Given the description of an element on the screen output the (x, y) to click on. 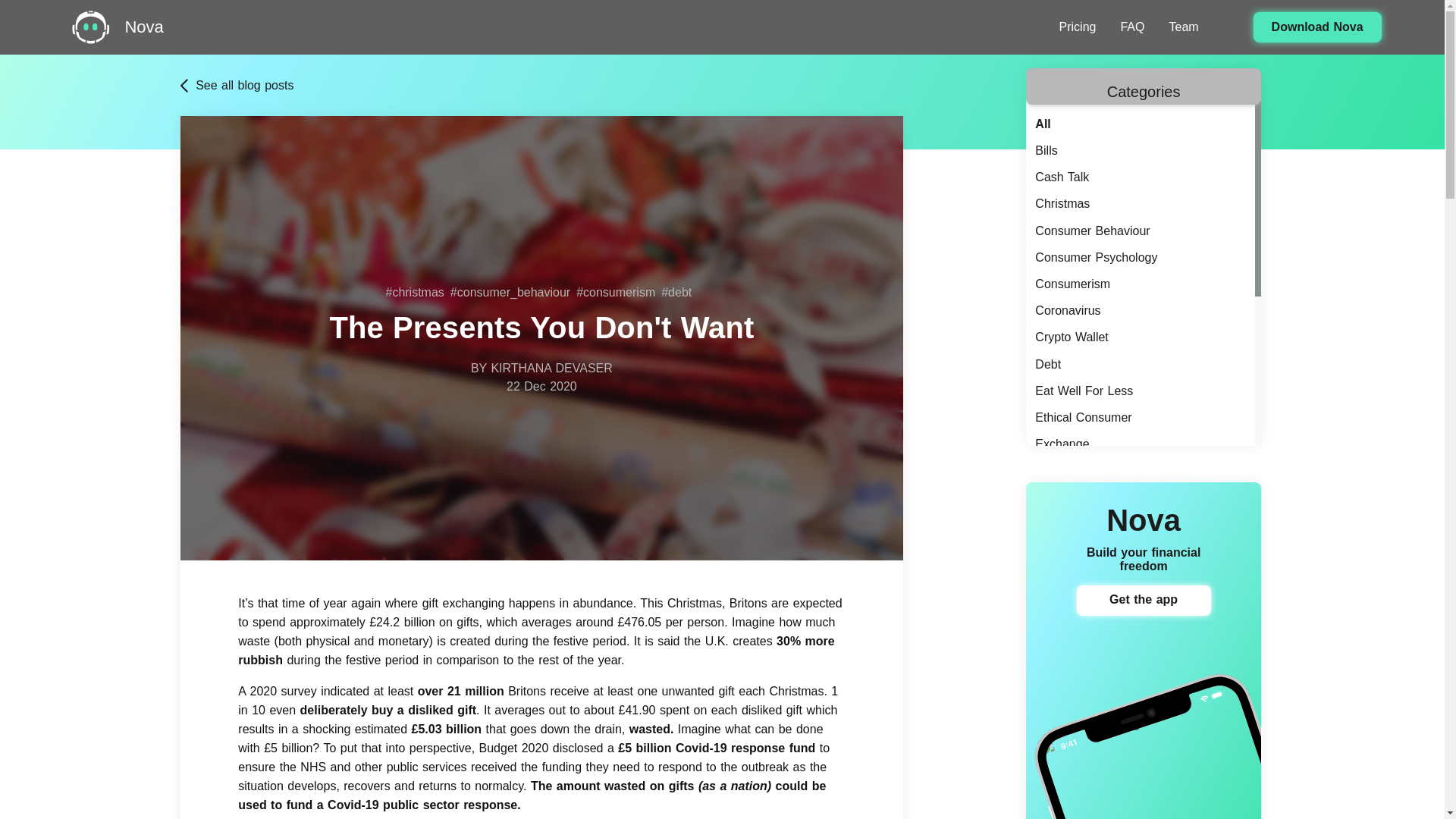
Nova (143, 26)
